Given the description of an element on the screen output the (x, y) to click on. 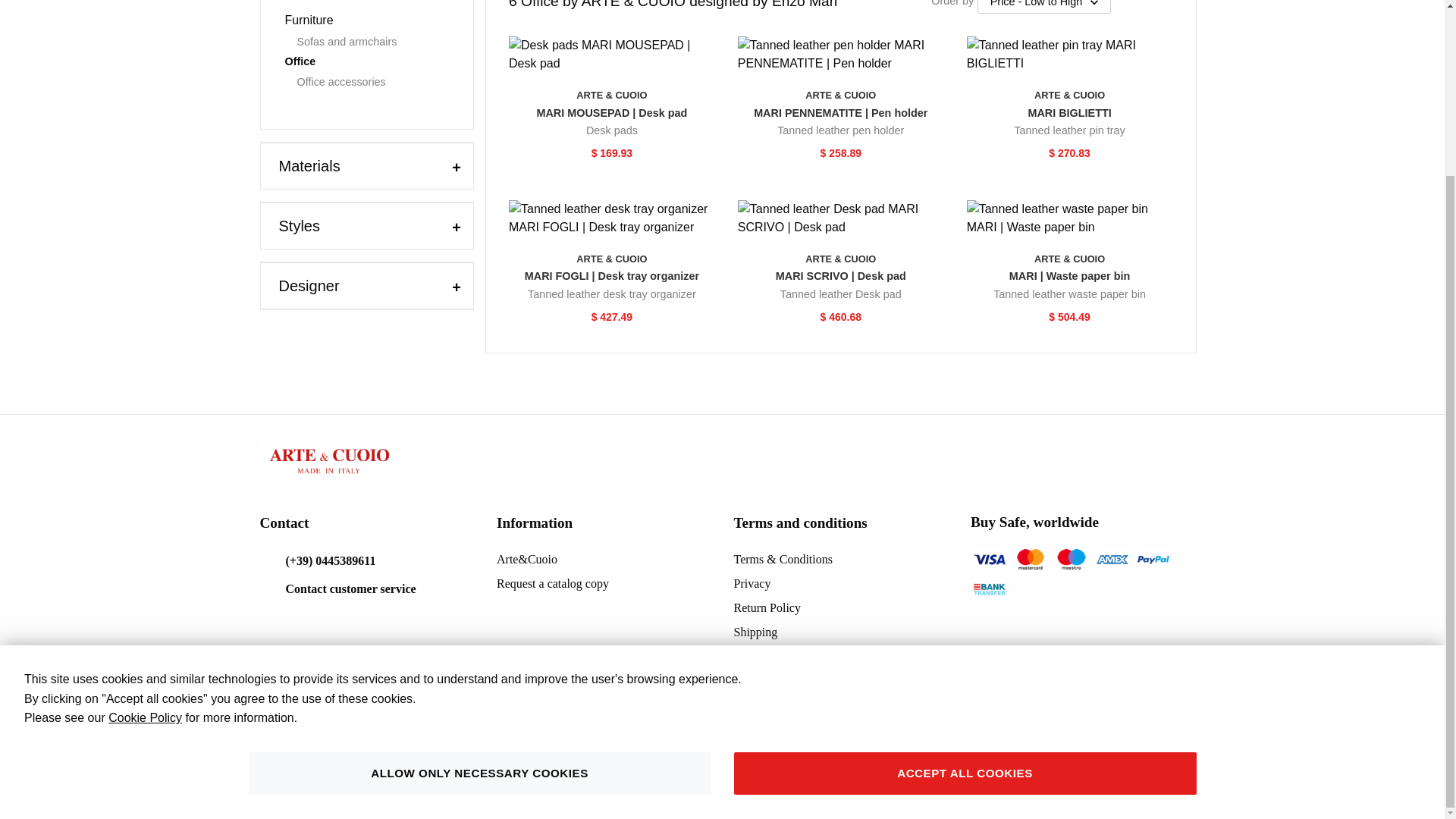
Sofas and armchairs (371, 42)
